Given the description of an element on the screen output the (x, y) to click on. 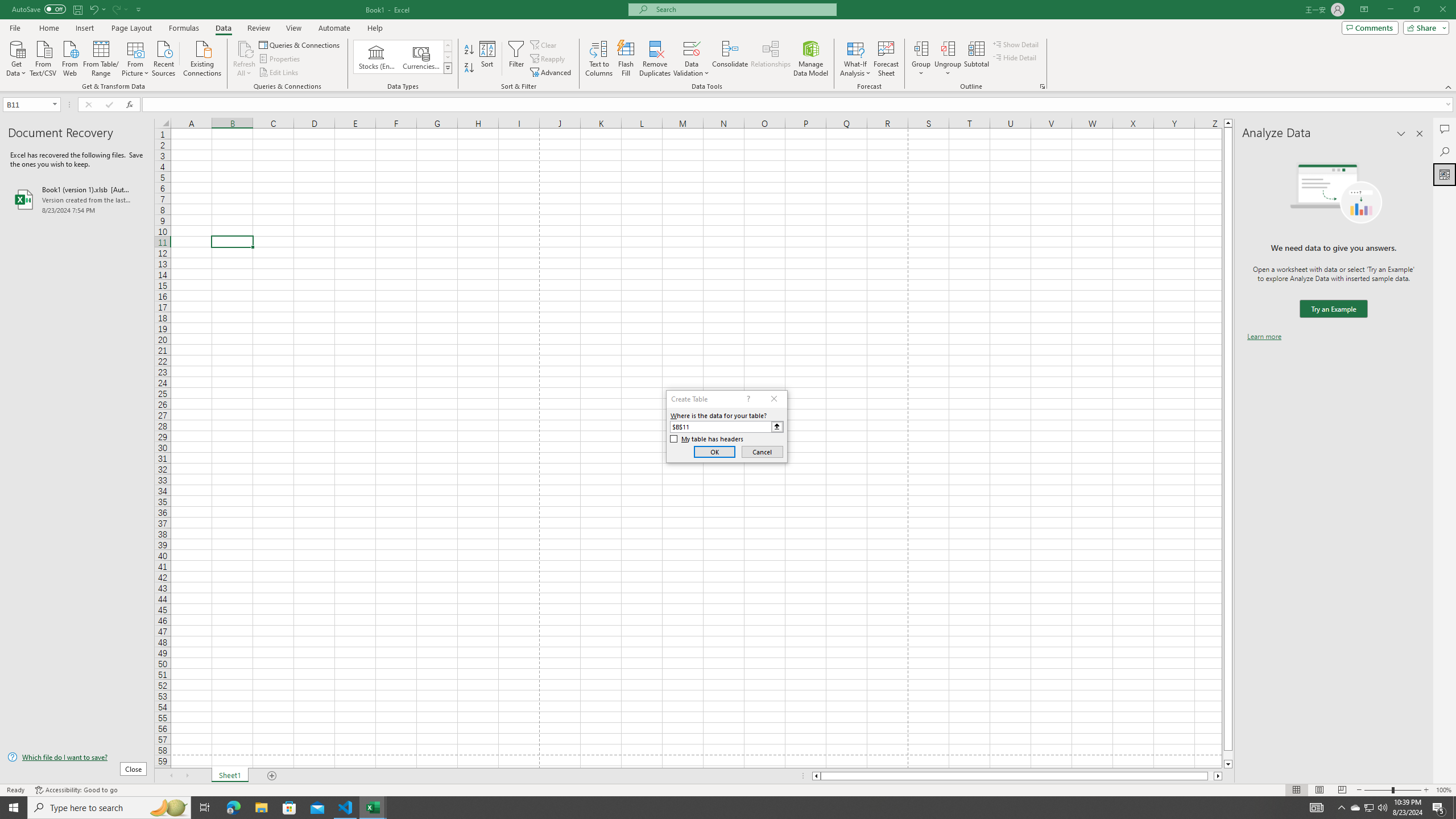
Microsoft search (742, 9)
Text to Columns... (598, 58)
Comments (1369, 27)
Remove Duplicates (654, 58)
Flash Fill (625, 58)
Reapply (548, 58)
Refresh All (244, 58)
From Web (69, 57)
Page right (1211, 775)
Row up (448, 45)
Learn more (1264, 336)
From Text/CSV (43, 57)
Sheet1 (229, 775)
Add Sheet (272, 775)
